Given the description of an element on the screen output the (x, y) to click on. 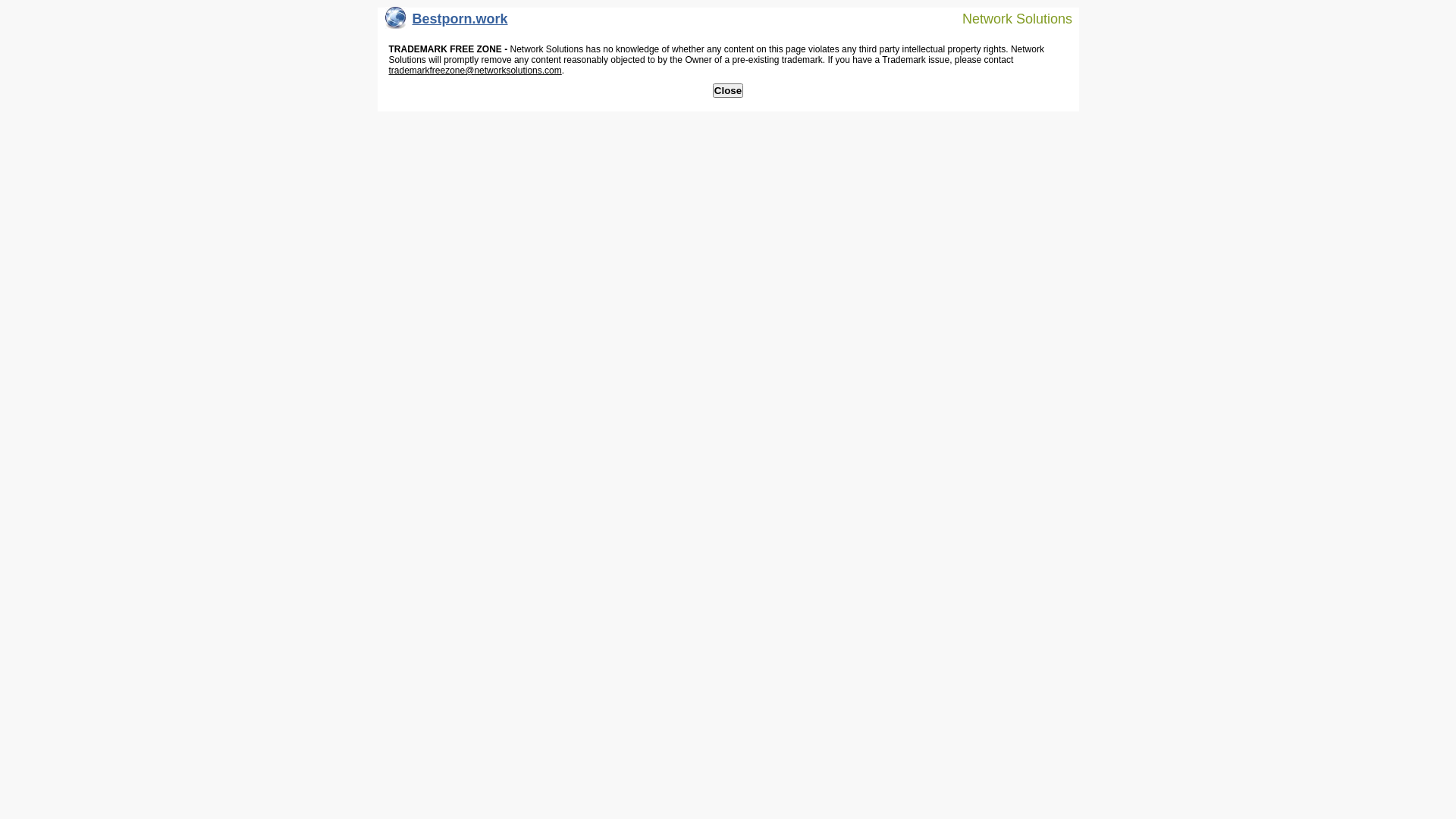
Bestporn.work Element type: text (446, 21)
Network Solutions Element type: text (1007, 17)
Close Element type: text (727, 90)
trademarkfreezone@networksolutions.com Element type: text (474, 70)
